Given the description of an element on the screen output the (x, y) to click on. 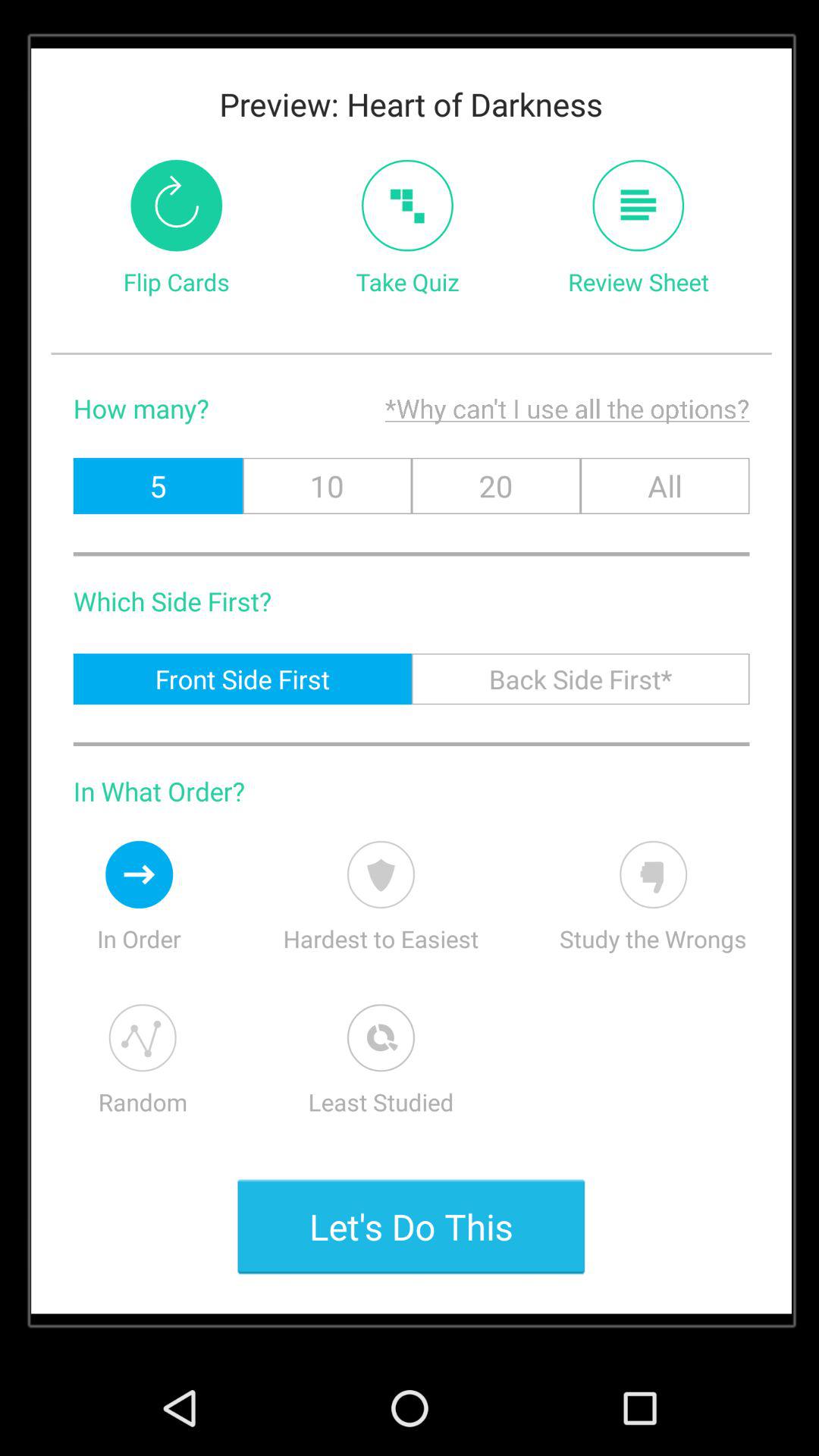
descending (139, 874)
